Given the description of an element on the screen output the (x, y) to click on. 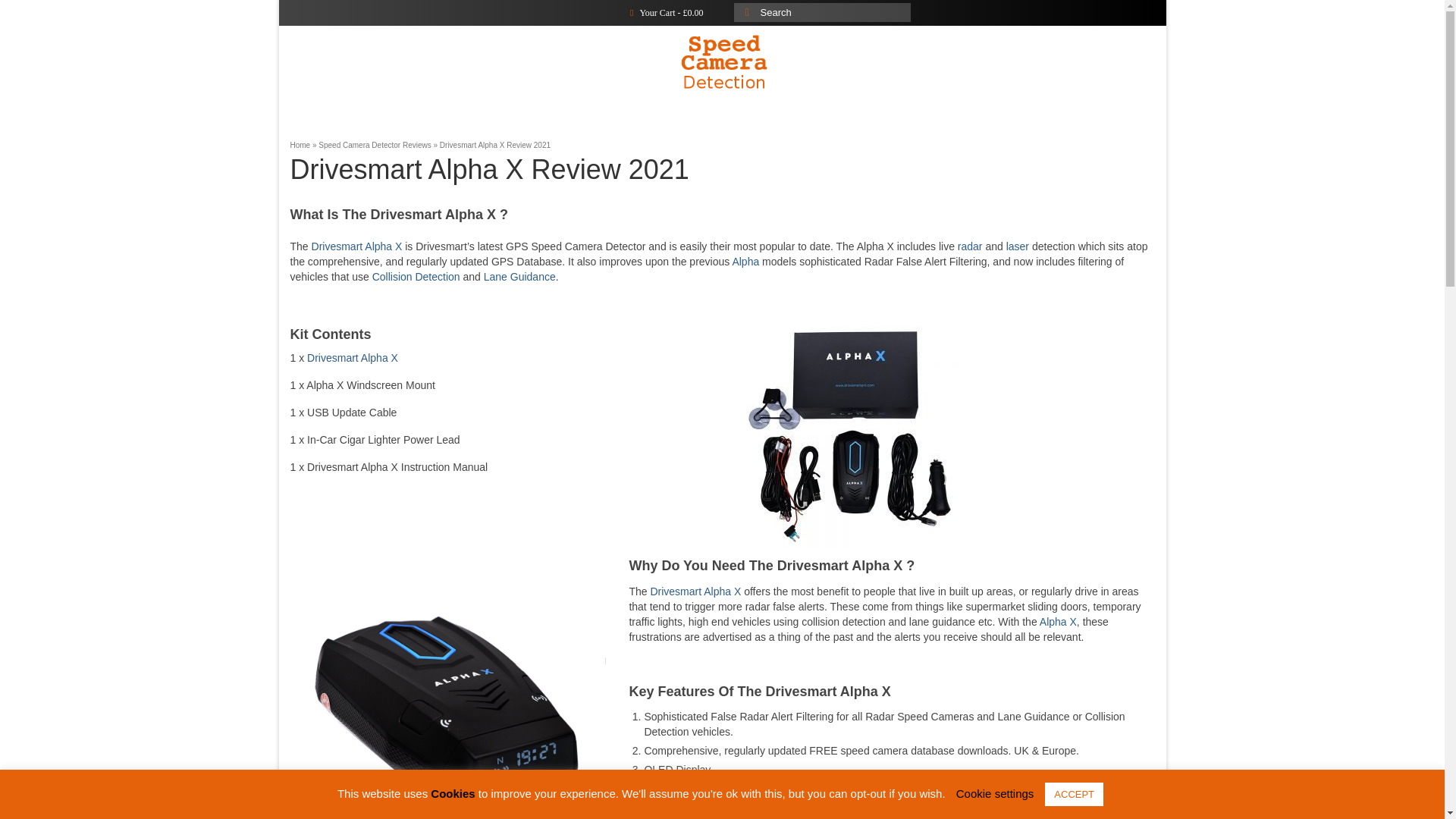
Alpha X (1058, 621)
Home (346, 54)
Drivesmart Alpha X (352, 357)
Detector Reviews (980, 54)
Speed Camera Detection (723, 65)
Lane Guidance (519, 276)
Drivesmart Alpha X (695, 591)
Basket (1096, 54)
View your shopping cart (667, 12)
Shop (463, 54)
